Given the description of an element on the screen output the (x, y) to click on. 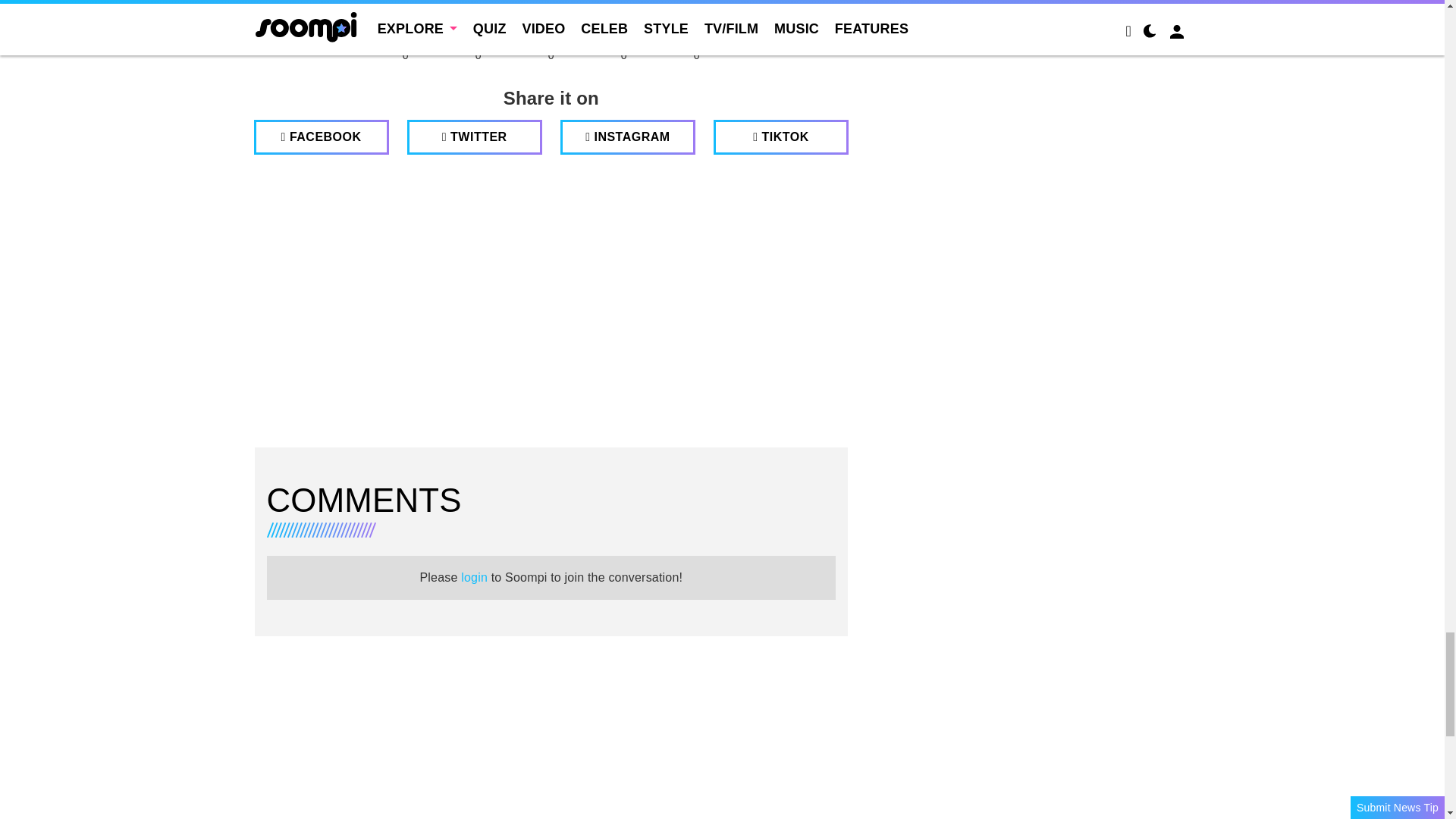
LOL (478, 19)
Crying (623, 19)
Fire (550, 19)
Heart (405, 19)
OMG (696, 19)
